Given the description of an element on the screen output the (x, y) to click on. 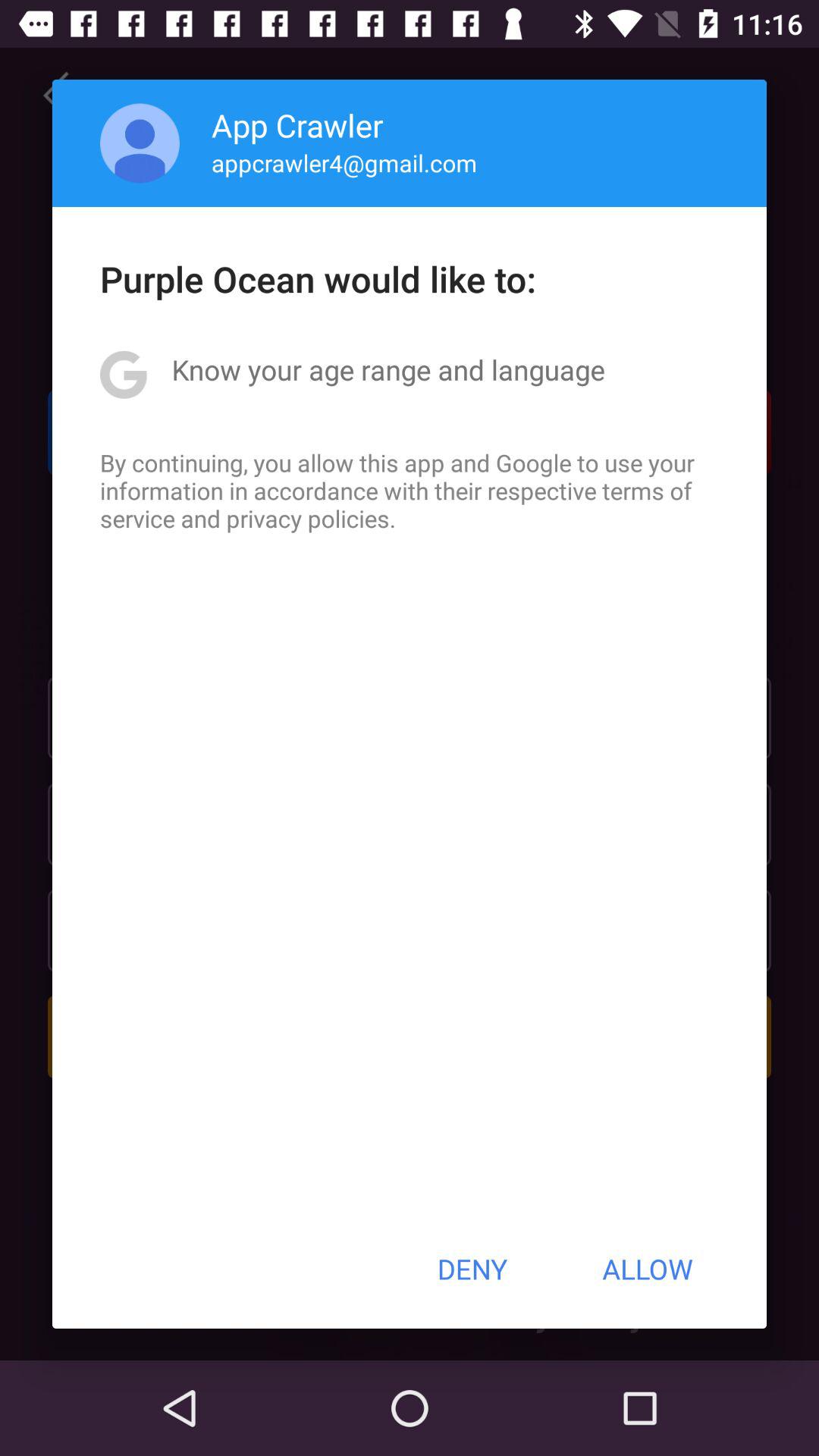
click icon next to allow item (471, 1268)
